Given the description of an element on the screen output the (x, y) to click on. 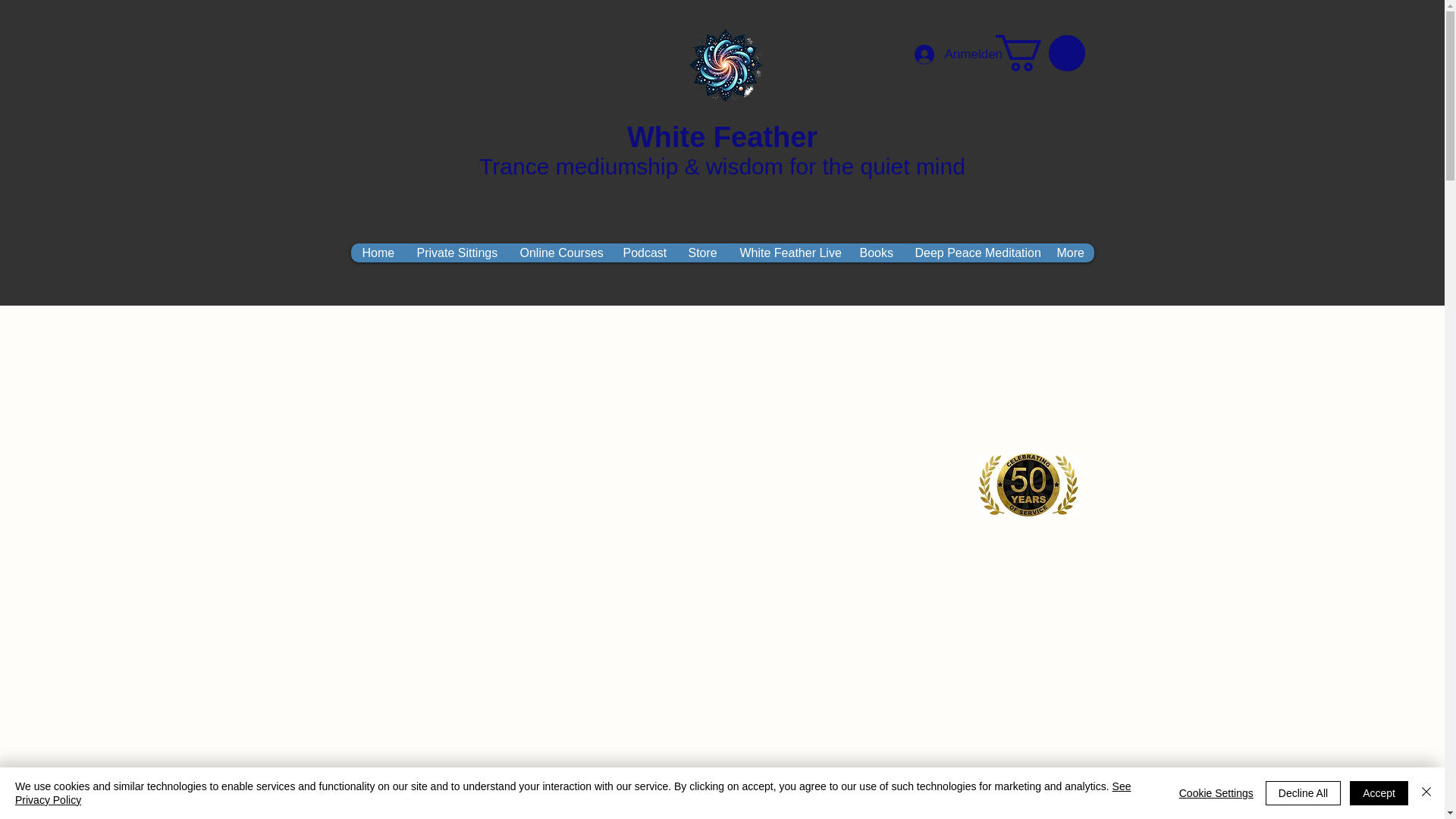
White Feather (721, 137)
Books (874, 252)
Store (702, 252)
Home (377, 252)
See Privacy Policy (572, 792)
White Feather Live (787, 252)
Private Sittings (456, 252)
Podcast (644, 252)
Accept (1378, 793)
Online Courses (559, 252)
Anmelden (951, 53)
Deep Peace Meditation (972, 252)
